Given the description of an element on the screen output the (x, y) to click on. 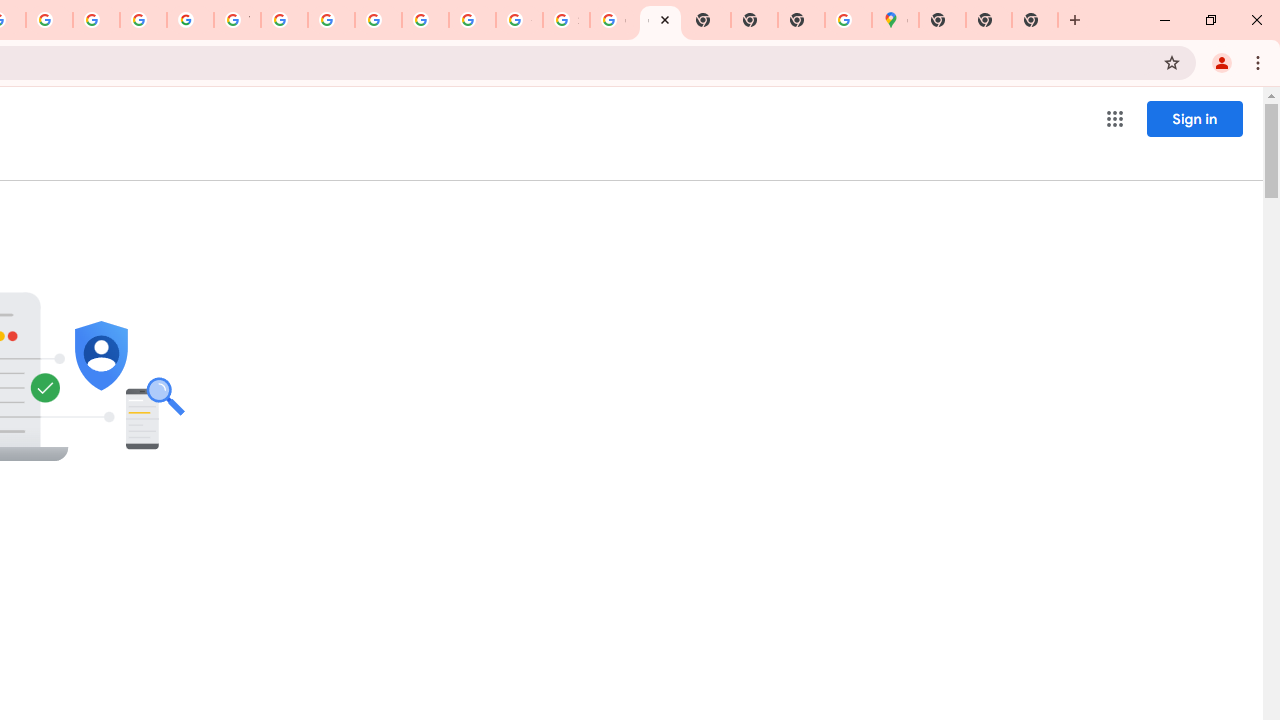
Privacy Help Center - Policies Help (96, 20)
Privacy Help Center - Policies Help (48, 20)
New Tab (801, 20)
New Tab (1035, 20)
Sign in - Google Accounts (566, 20)
